Given the description of an element on the screen output the (x, y) to click on. 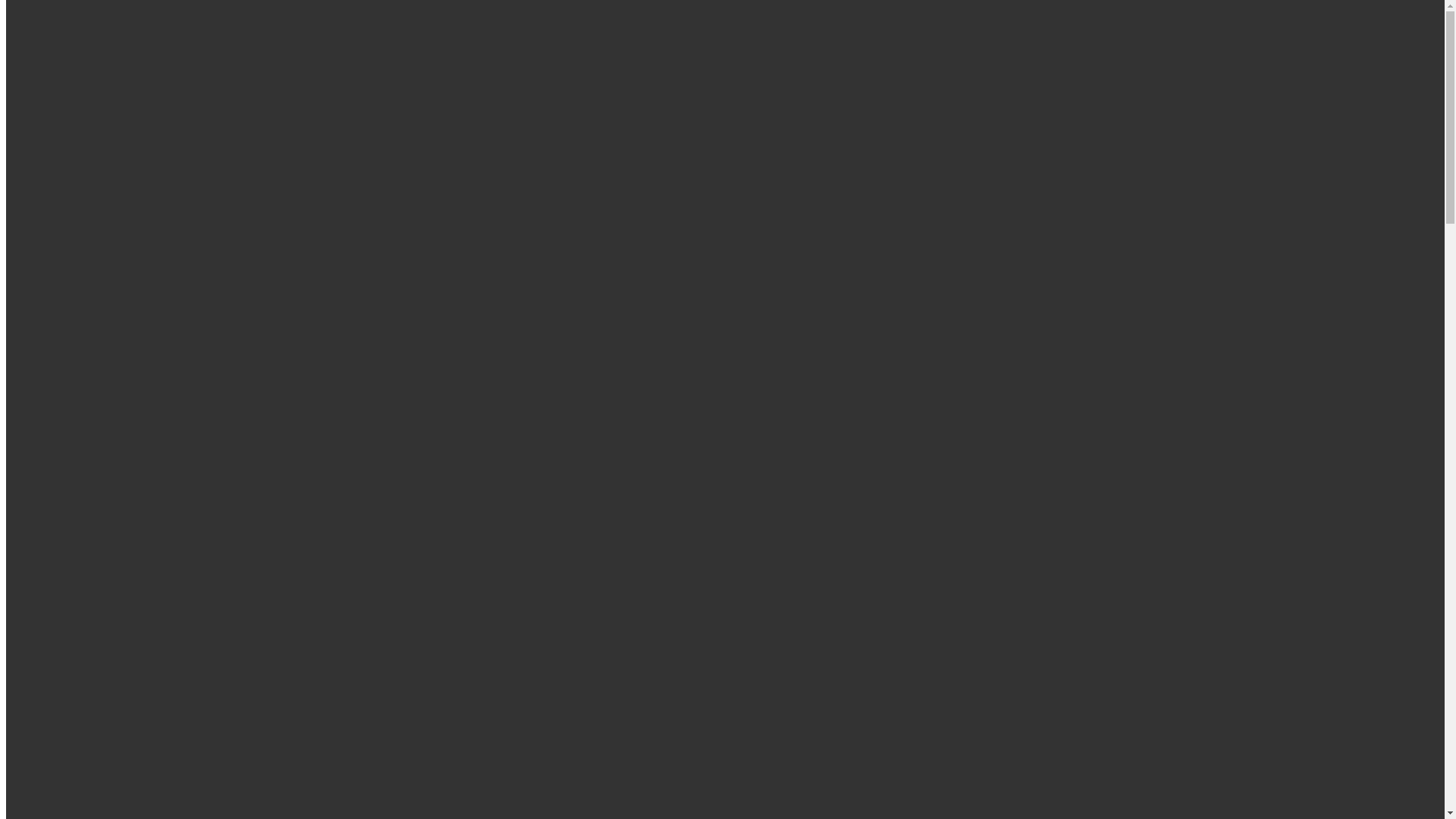
Horizon 2020 Element type: text (99, 213)
Newsletter Element type: text (62, 514)
MSCA Element type: text (114, 295)
EU programmes Element type: text (76, 186)
Memorandum Element type: text (131, 363)
internal approval process at CERN Element type: text (470, 796)
Templates & examples Element type: text (152, 391)
What is an EU project Element type: text (120, 268)
Other EU Projects Element type: text (141, 322)
Grant Agreement Element type: text (139, 432)
Skip to main content Element type: text (6, 15)
EU Projects @ CERN Element type: text (90, 486)
Evaluation Element type: text (123, 404)
Guidelines for EU projects Element type: text (101, 254)
Periodic Reporting Element type: text (142, 445)
IPR Element type: text (106, 459)
Horizon Europe Open calls Element type: text (102, 241)
Other EU programmes Element type: text (121, 227)
Horizon Europe Element type: text (105, 200)
Directory Element type: text (59, 80)
Sign in Element type: text (83, 66)
EDH document Element type: text (134, 350)
EDH Element type: text (748, 796)
Management Element type: text (99, 418)
How to build the budget Element type: text (156, 377)
MSCA @ CERN Element type: text (77, 500)
CERN Accelerating science Element type: text (147, 29)
Home Element type: text (50, 172)
Different types of EU projects Element type: text (141, 282)
Proposal preparation Element type: text (118, 336)
ERC Element type: text (108, 309)
GEP Element type: text (47, 527)
Toggle navigation Element type: text (51, 146)
Training - EU Project funding demystified Element type: text (169, 473)
Who to contact Element type: text (73, 541)
